Given the description of an element on the screen output the (x, y) to click on. 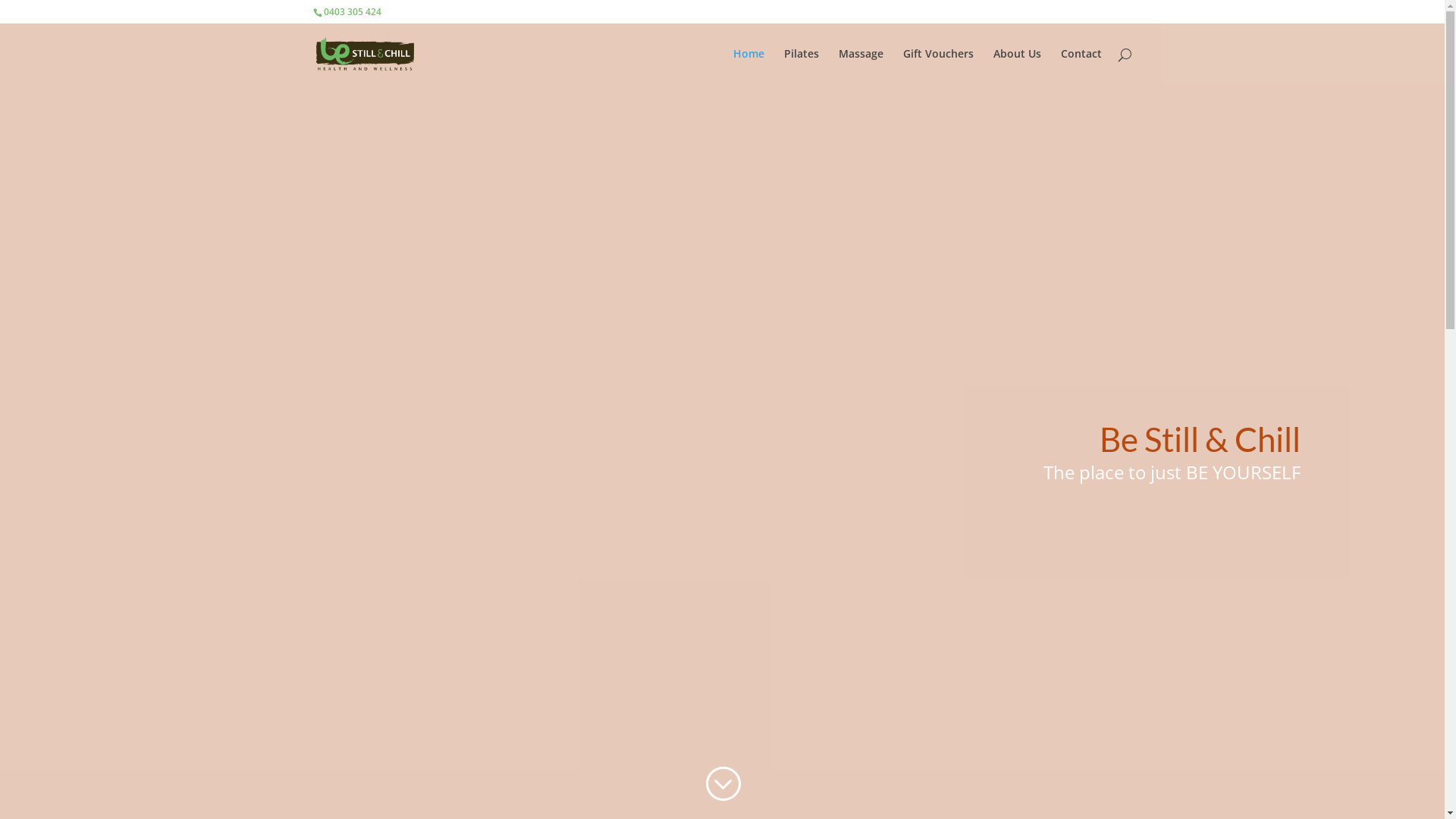
Massage Element type: text (860, 66)
Contact Element type: text (1080, 66)
Pilates Element type: text (801, 66)
Home Element type: text (747, 66)
About Us Element type: text (1017, 66)
Gift Vouchers Element type: text (937, 66)
; Element type: text (721, 783)
